Given the description of an element on the screen output the (x, y) to click on. 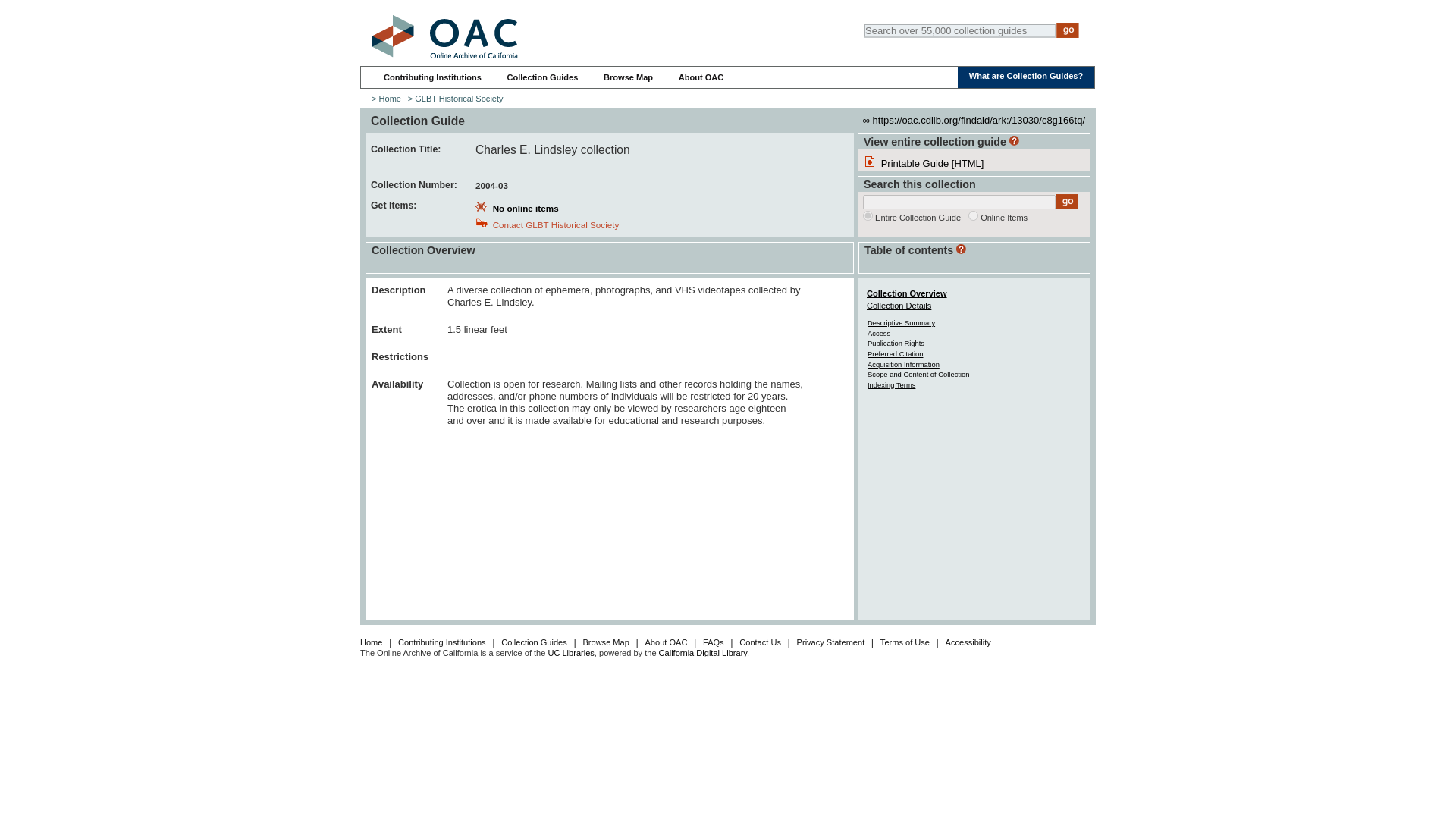
About OAC (700, 76)
Search (1067, 29)
Online Archive of California (444, 36)
Indexing Terms (891, 384)
Search (1066, 201)
Publication Rights (895, 343)
Contributing Institutions (432, 76)
Contact GLBT Historical Society (556, 225)
Browse Map (628, 76)
Go (1067, 29)
What are Collection Guides? (1026, 75)
Collection Details (898, 305)
Collection Guides (542, 76)
Search (1066, 201)
Scope and Content of Collection (918, 374)
